Given the description of an element on the screen output the (x, y) to click on. 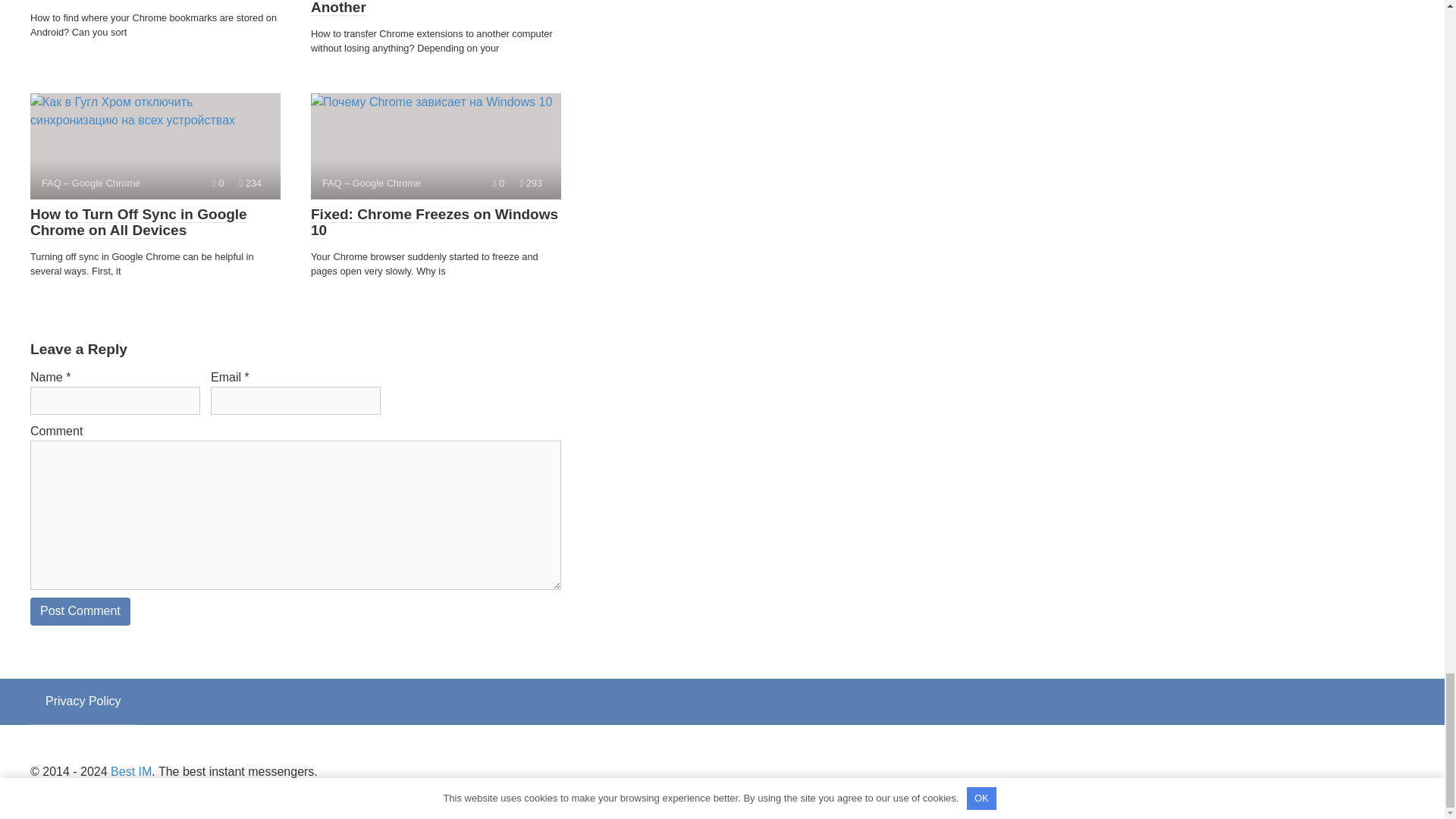
Comments (218, 183)
Comments (498, 183)
Views (530, 183)
Views (250, 183)
Post Comment (80, 611)
